Given the description of an element on the screen output the (x, y) to click on. 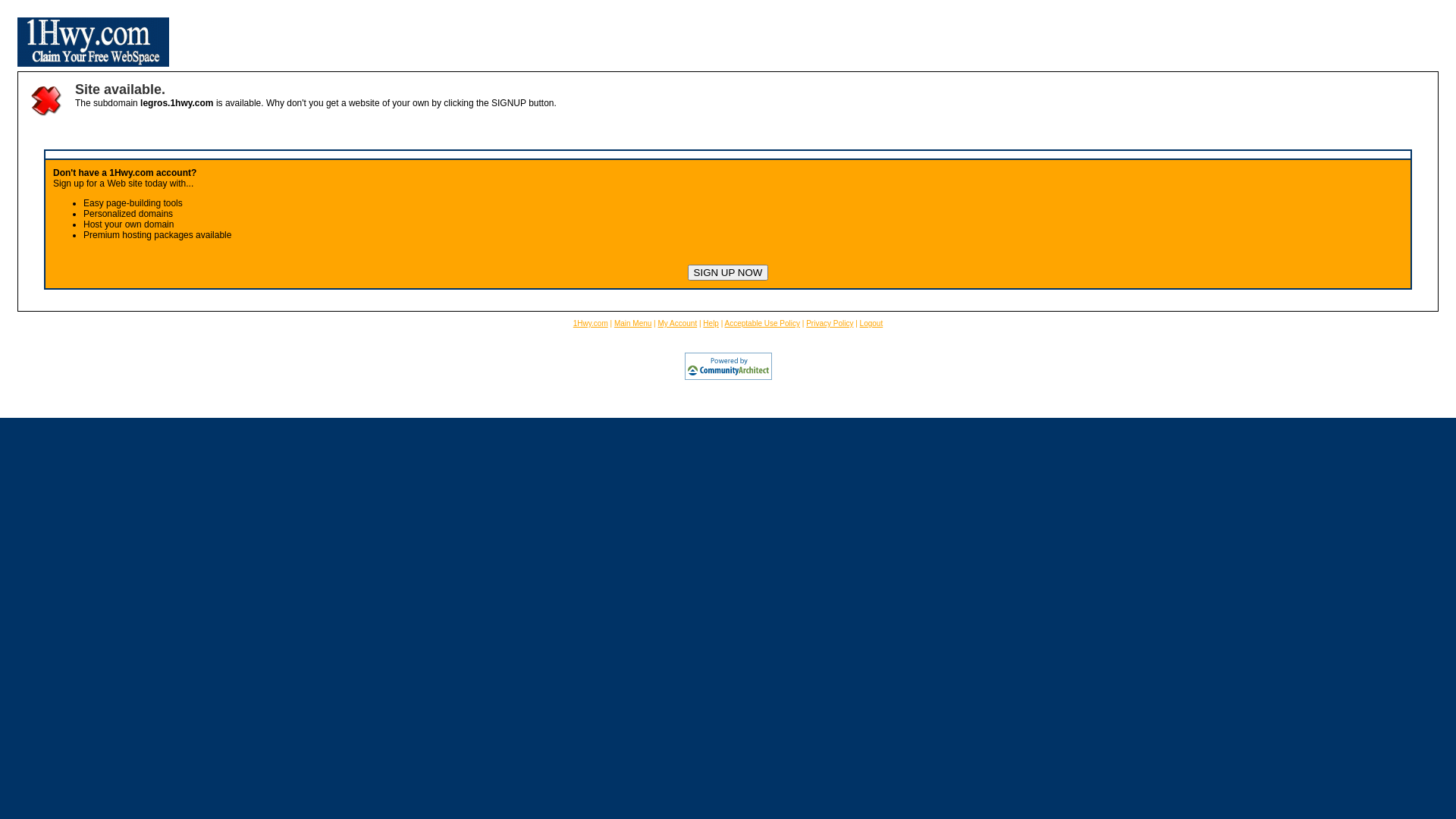
1Hwy.com Element type: text (590, 323)
SIGN UP NOW Element type: text (727, 272)
My Account Element type: text (677, 323)
Acceptable Use Policy Element type: text (762, 323)
Main Menu Element type: text (632, 323)
Privacy Policy Element type: text (829, 323)
Help Element type: text (710, 323)
Logout Element type: text (871, 323)
